Given the description of an element on the screen output the (x, y) to click on. 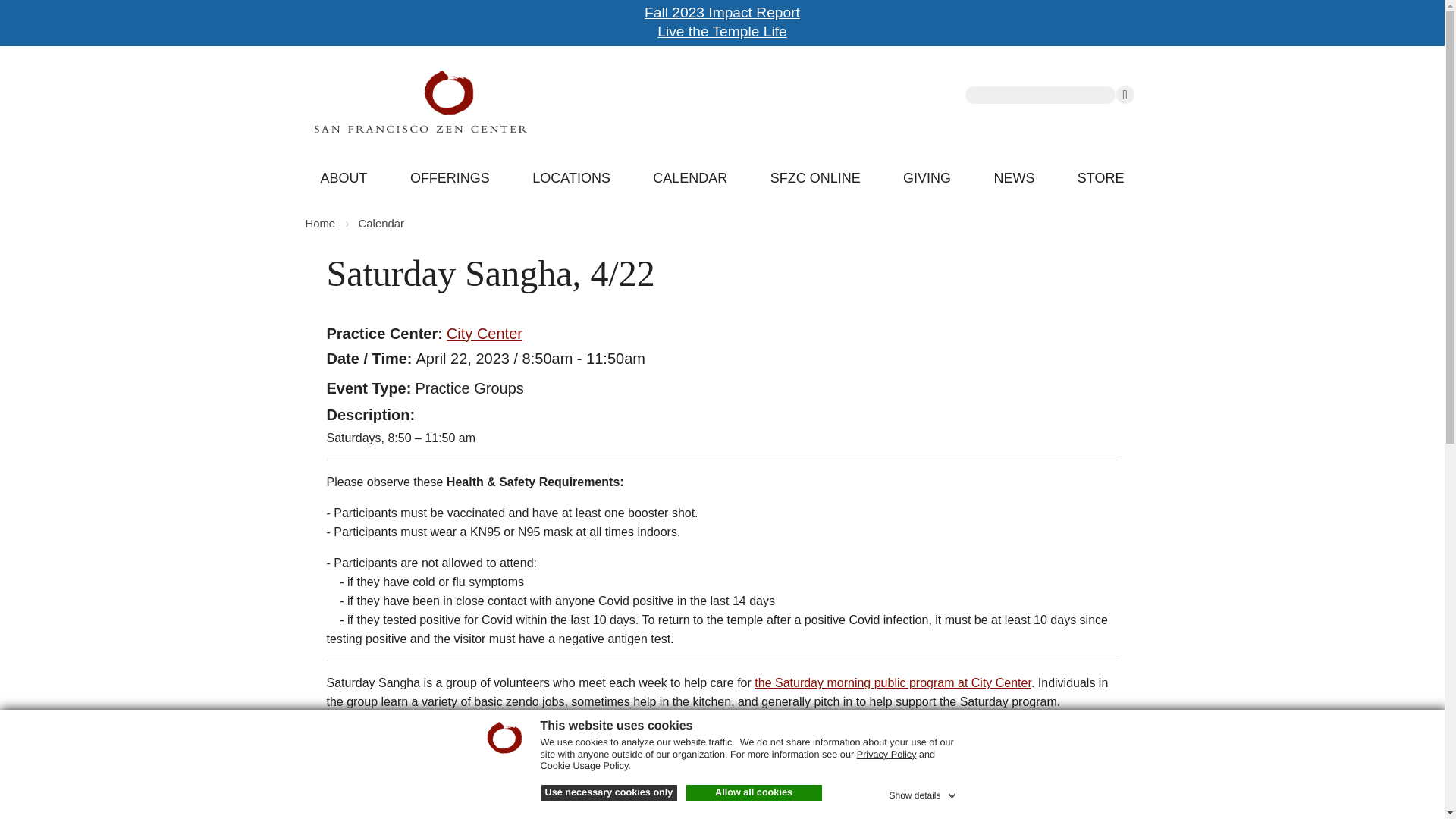
Use necessary cookies only (609, 792)
Cookie Usage Policy (583, 765)
Search (1125, 94)
Privacy Policy (887, 754)
Allow all cookies (753, 792)
Show details (923, 792)
